Given the description of an element on the screen output the (x, y) to click on. 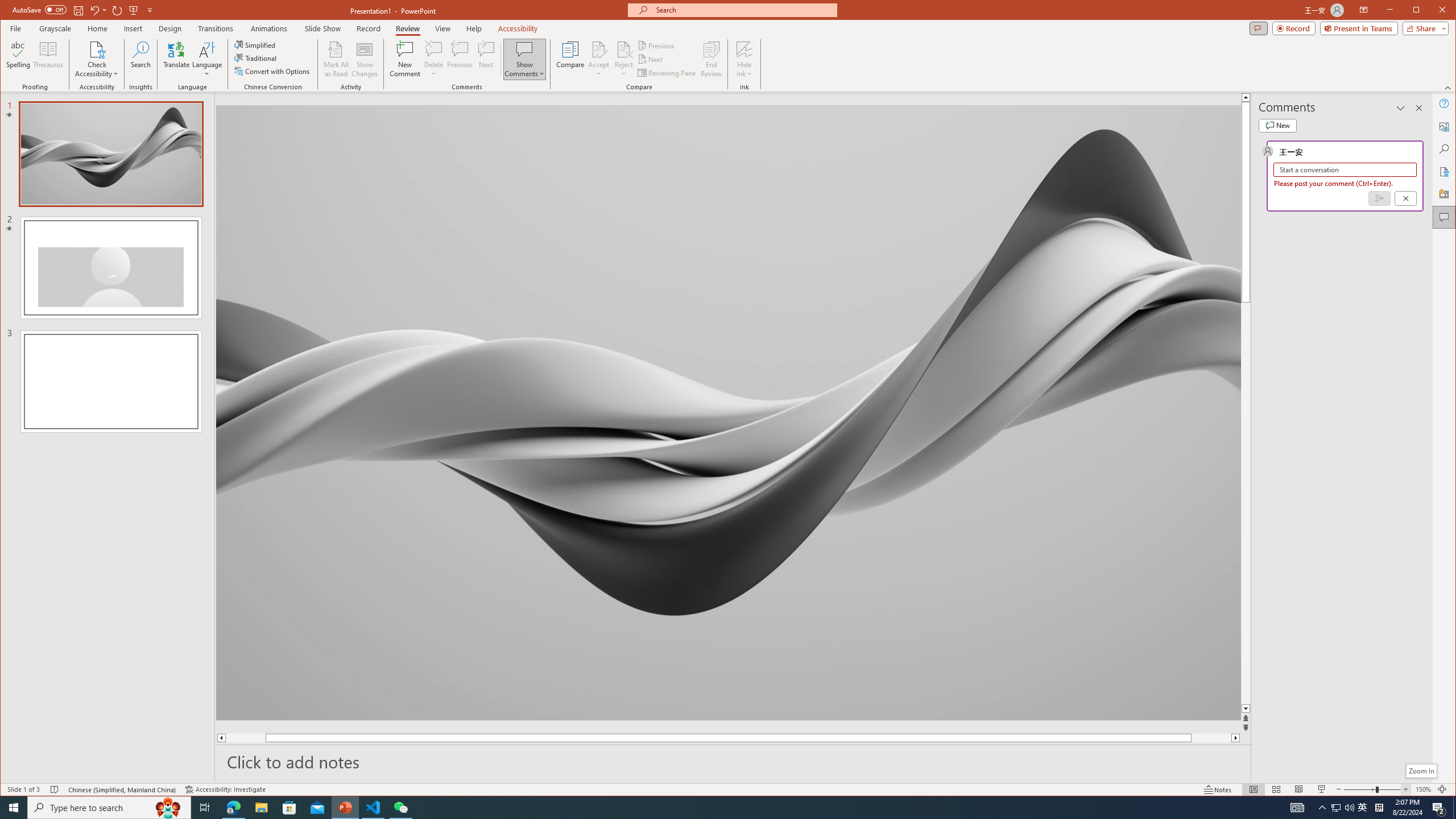
New comment (1277, 125)
Cancel (1405, 197)
Thesaurus... (48, 59)
